Given the description of an element on the screen output the (x, y) to click on. 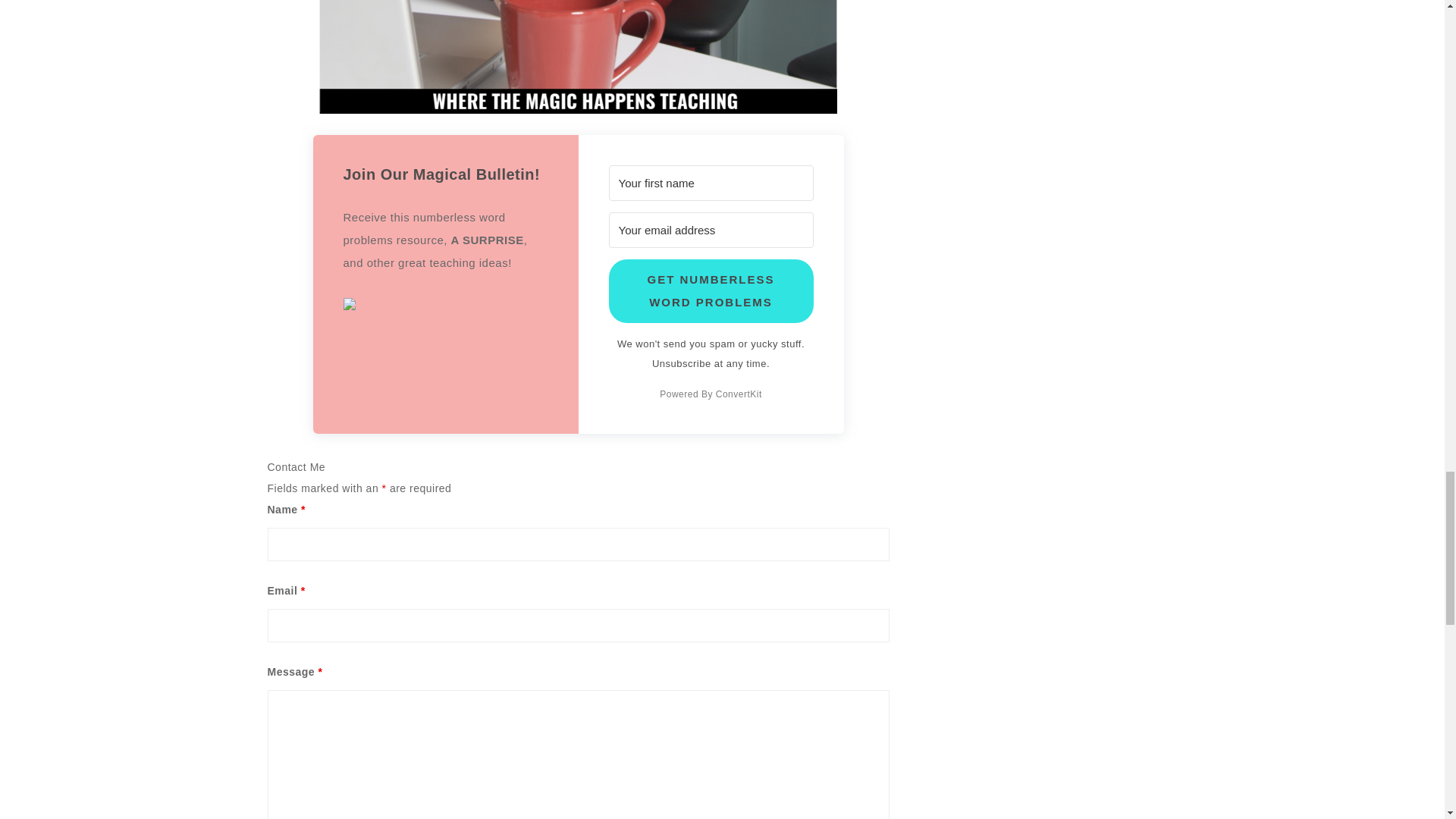
GET NUMBERLESS WORD PROBLEMS (710, 290)
Powered By ConvertKit (710, 393)
